Given the description of an element on the screen output the (x, y) to click on. 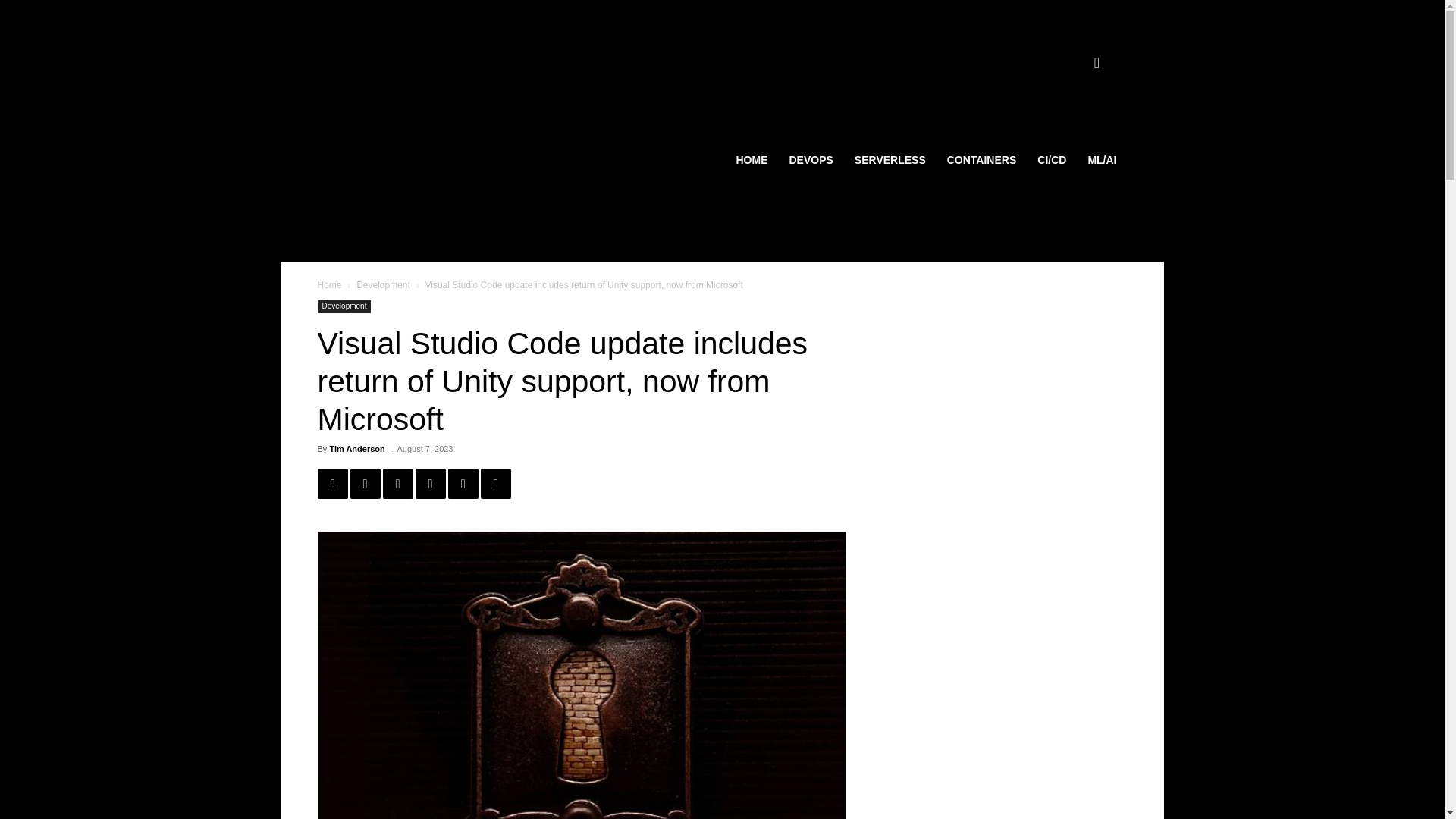
The Register (934, 20)
The Next Platform (1092, 4)
Newsletter (829, 20)
The Next Platform (1084, 20)
CONTAINERS (981, 159)
Newsletter (868, 4)
SERVERLESS (890, 159)
DEVOPS (810, 159)
